Given the description of an element on the screen output the (x, y) to click on. 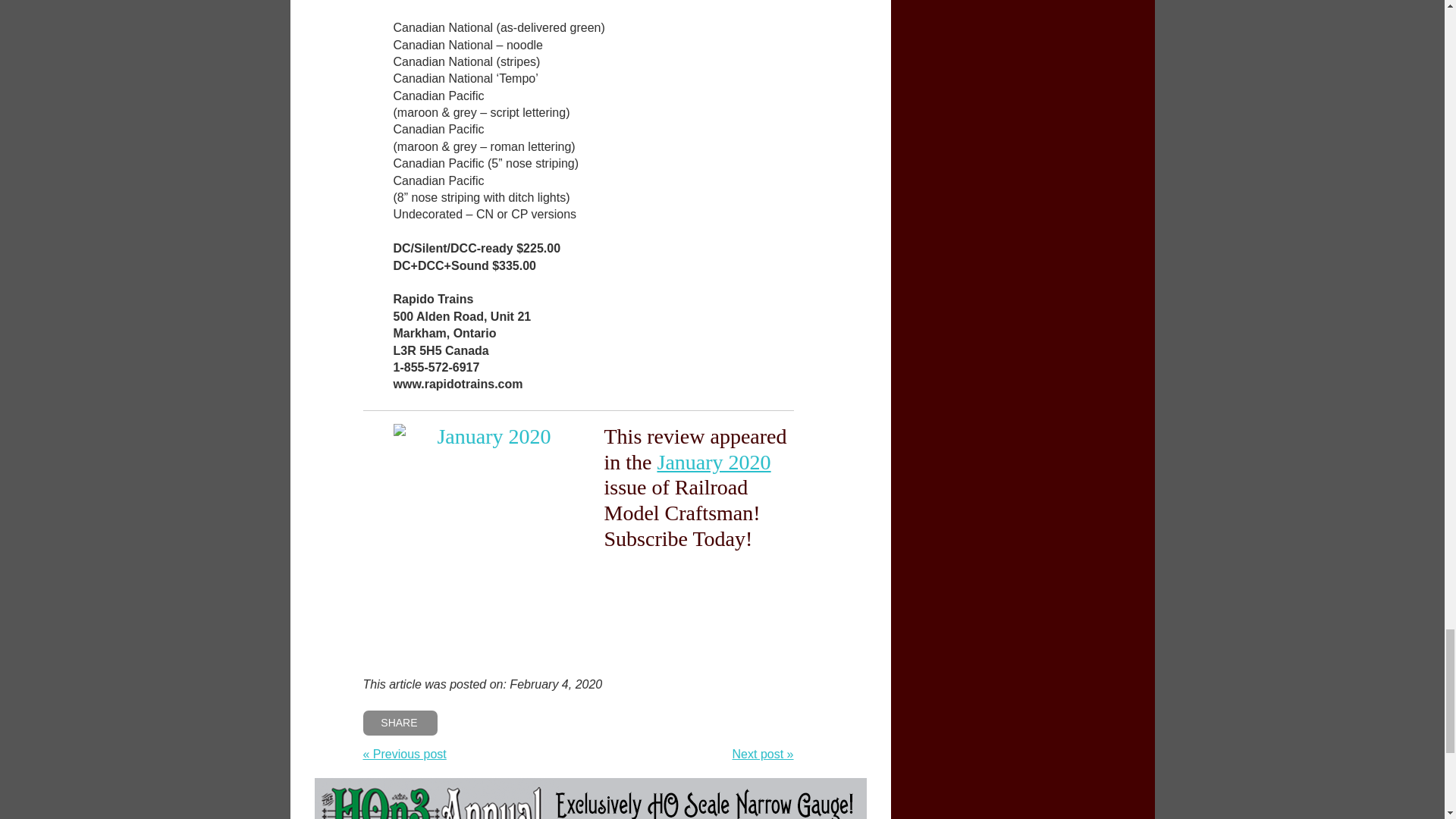
SHARE (400, 723)
Share (400, 723)
January 2020 (713, 462)
